Given the description of an element on the screen output the (x, y) to click on. 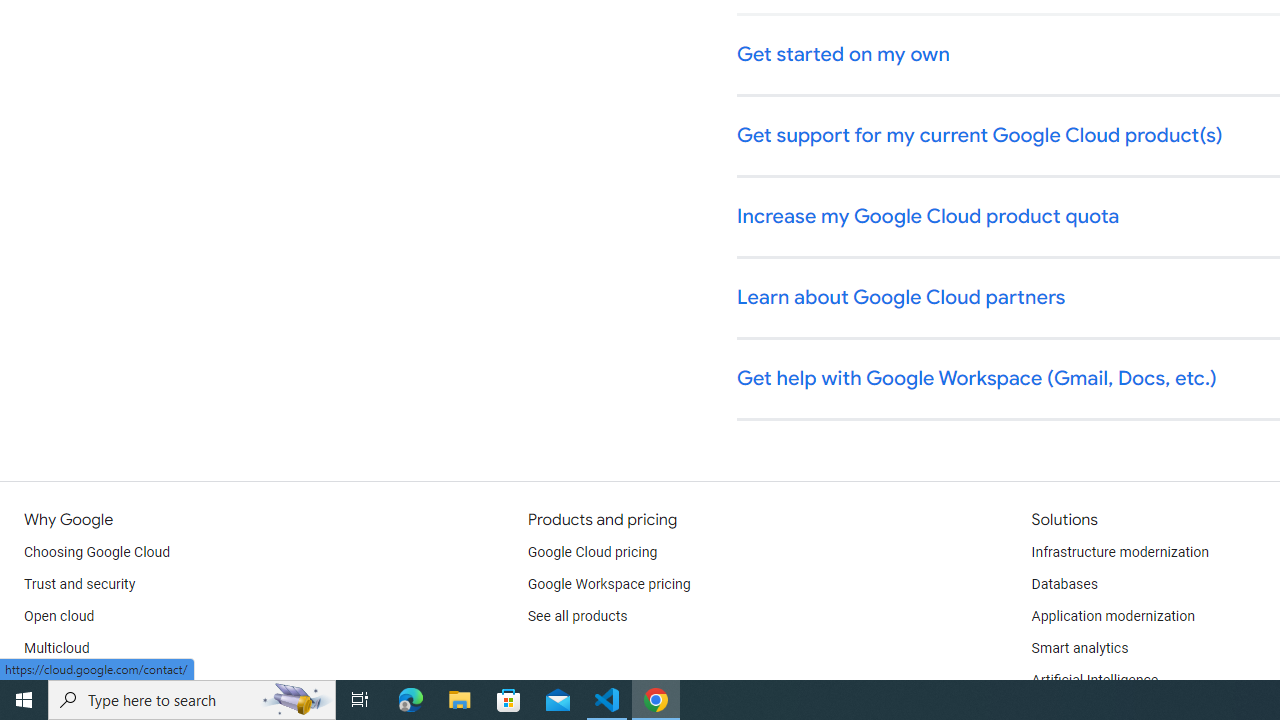
Databases (1064, 584)
Application modernization (1112, 616)
Multicloud (56, 648)
Google Workspace pricing (609, 584)
Trust and security (79, 584)
Global infrastructure (88, 680)
Choosing Google Cloud (97, 552)
Google Cloud pricing (592, 552)
Smart analytics (1079, 648)
Artificial Intelligence (1094, 680)
Infrastructure modernization (1119, 552)
Open cloud (59, 616)
See all products (577, 616)
